Given the description of an element on the screen output the (x, y) to click on. 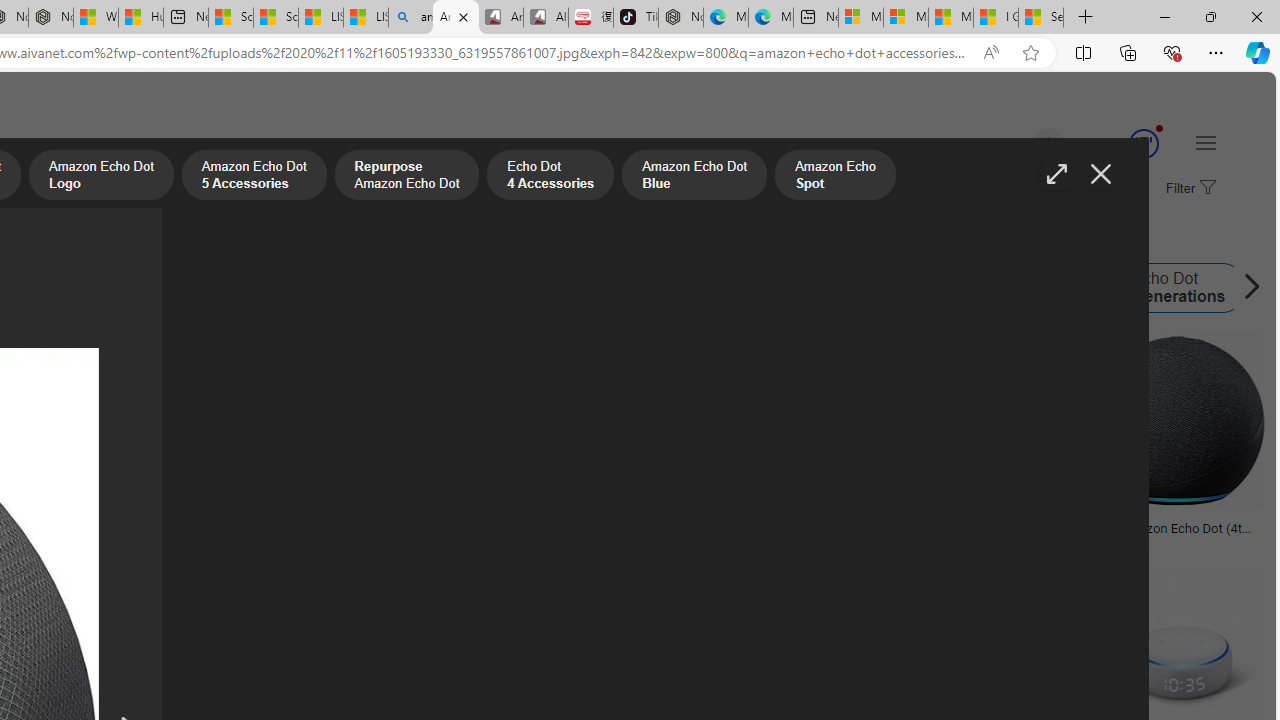
Echo Dot Generations (1162, 287)
amazon - Search (410, 17)
pixabay.com (732, 541)
Amazon Echo Dot PNG - Search Images (455, 17)
Amazon Echo Plus (587, 287)
Amazon Echo Dot 3 (968, 287)
Amazon Echo Dot 3 (891, 287)
pnghq.com (96, 542)
Image result for Amazon Echo Dot PNG (1175, 421)
Filter (1188, 189)
